Given the description of an element on the screen output the (x, y) to click on. 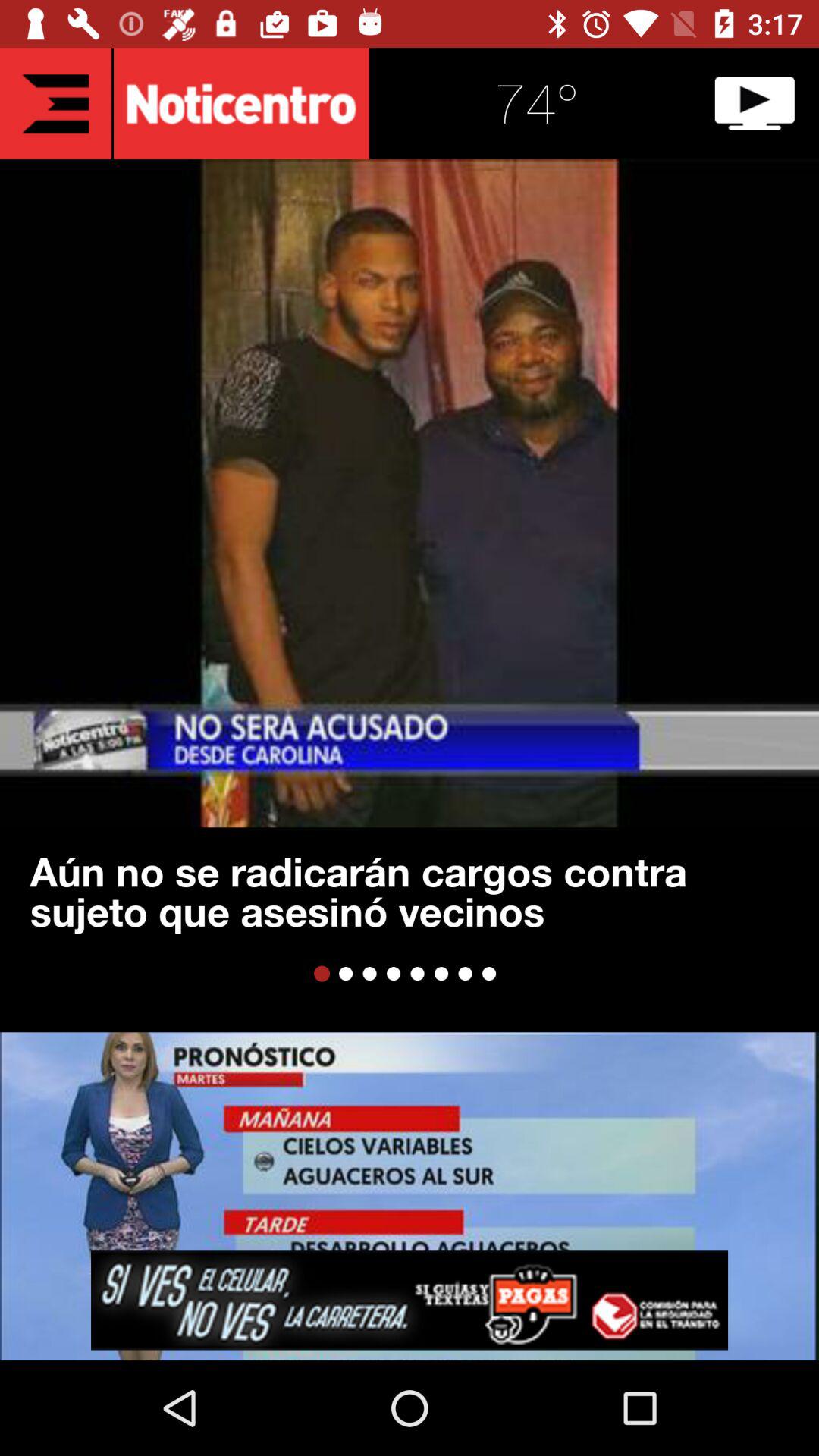
click to open advertisement (409, 1300)
